Given the description of an element on the screen output the (x, y) to click on. 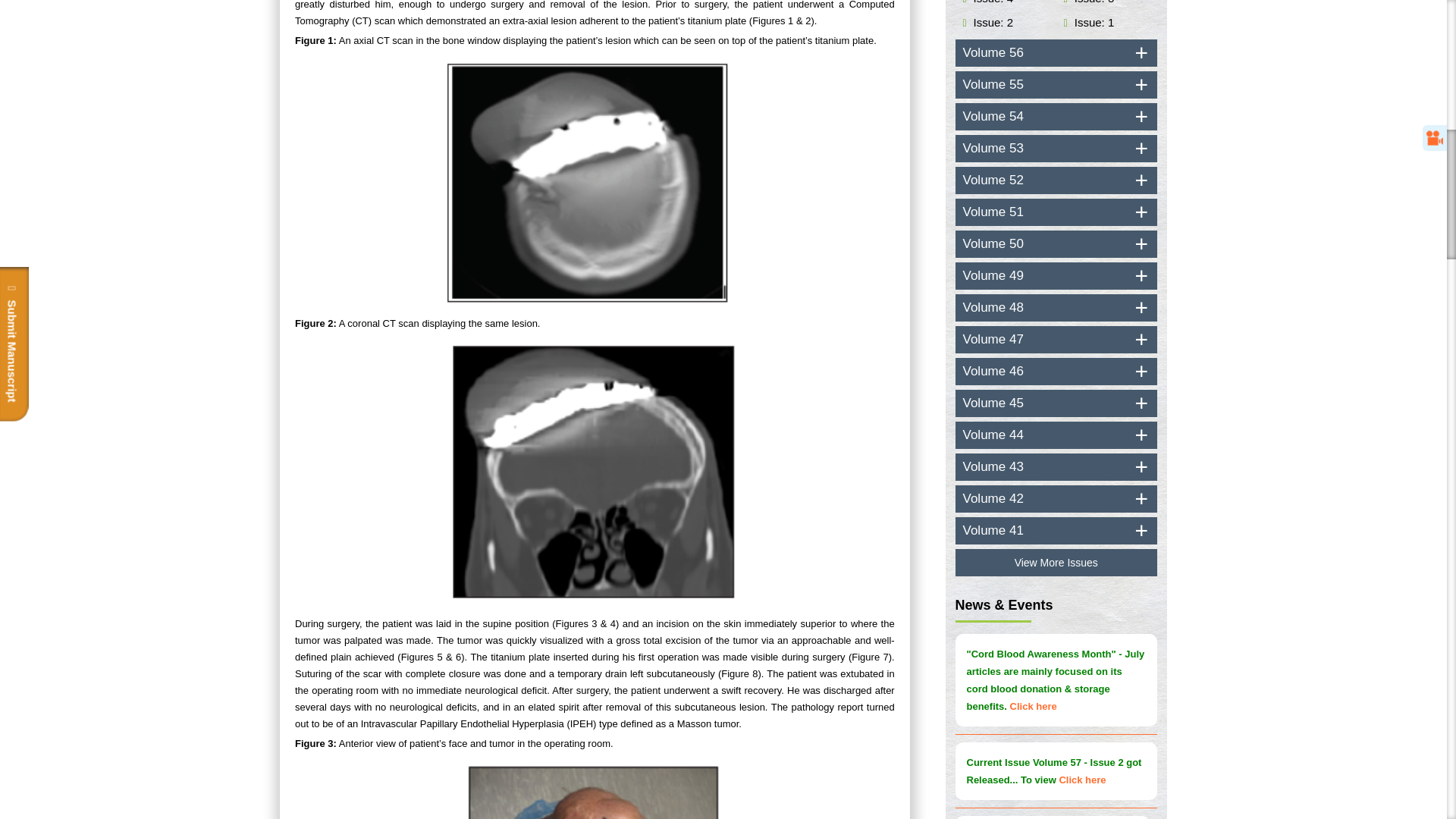
Click here to view Large Figure 3 (594, 790)
Click here (991, 2)
Click here (1092, 21)
Click here to view Large Figure 2 (594, 474)
Click here (1092, 2)
Click here to view Large Figure 1 (594, 181)
Click here (991, 21)
